Given the description of an element on the screen output the (x, y) to click on. 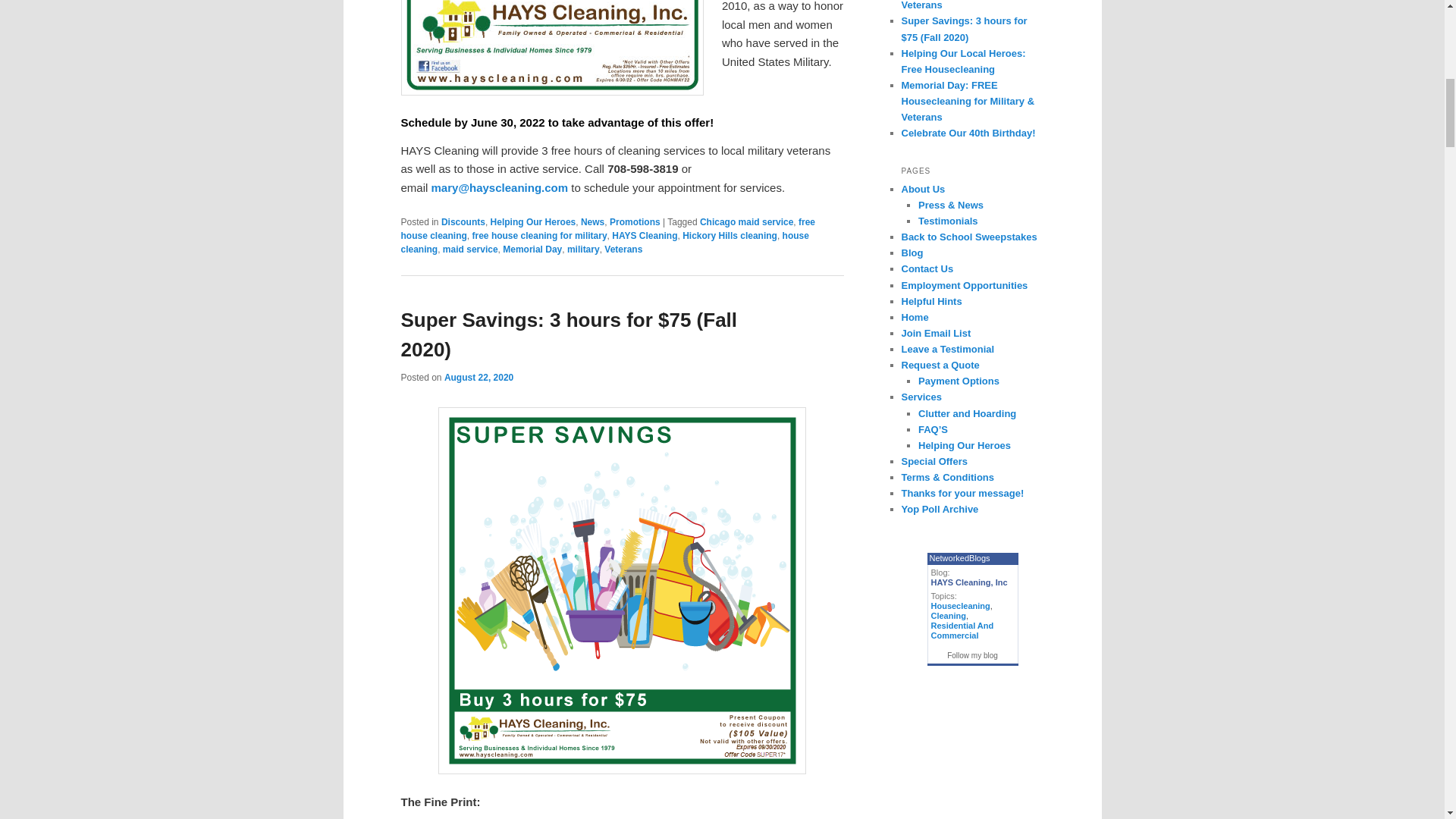
Discounts (462, 222)
free house cleaning (607, 228)
4:34 pm (478, 377)
Helping Our Heroes (533, 222)
Promotions (635, 222)
Chicago maid service (746, 222)
free house cleaning for military (539, 235)
News (592, 222)
